Given the description of an element on the screen output the (x, y) to click on. 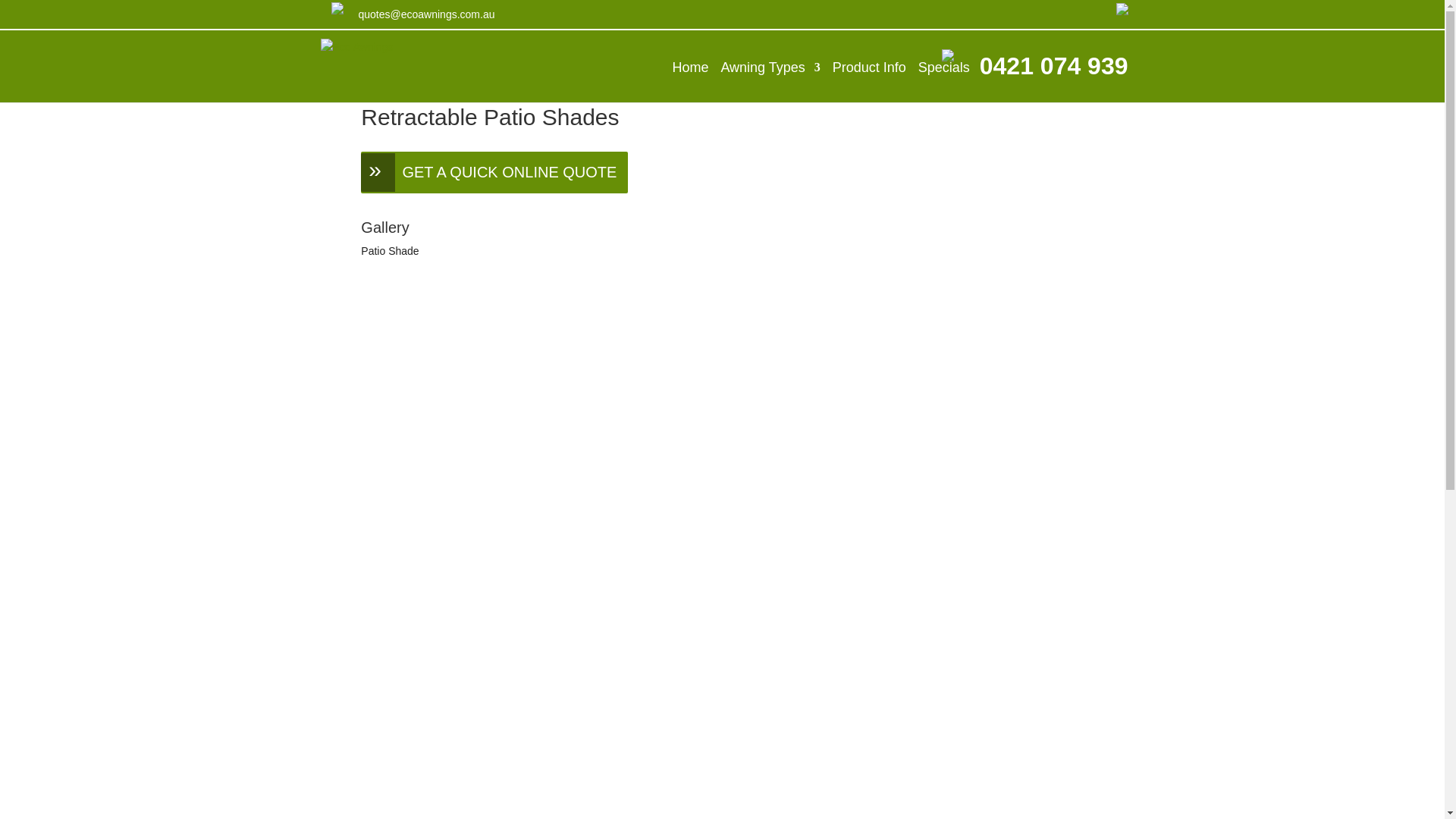
Awning Types Element type: text (769, 67)
Product Info Element type: text (869, 67)
quotes@ecoawnings.com.au Element type: text (425, 13)
Home Element type: text (689, 67)
Specials Element type: text (943, 67)
0421 074 939 Element type: text (1053, 65)
